Given the description of an element on the screen output the (x, y) to click on. 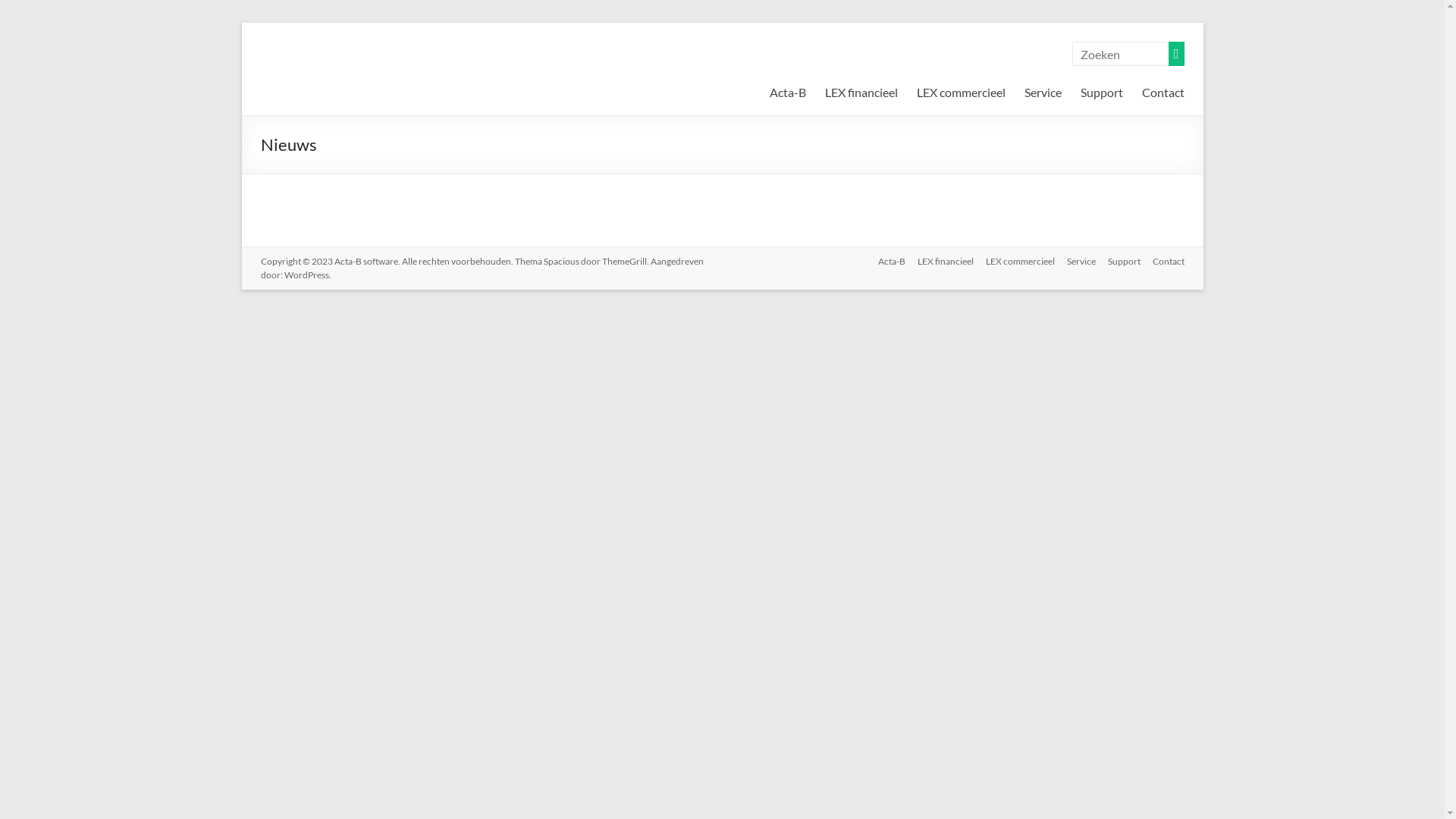
Contact Element type: text (1162, 262)
Service Element type: text (1041, 92)
Acta-B software Element type: text (312, 82)
LEX commercieel Element type: text (1013, 262)
Acta-B Element type: text (786, 92)
Support Element type: text (1117, 262)
LEX financieel Element type: text (861, 92)
LEX commercieel Element type: text (960, 92)
LEX financieel Element type: text (939, 262)
WordPress Element type: text (305, 274)
Contact Element type: text (1163, 92)
Acta-B software Element type: text (365, 260)
Spacious Element type: text (560, 260)
Service Element type: text (1074, 262)
Ga naar de inhoud Element type: text (241, 21)
Support Element type: text (1100, 92)
Acta-B Element type: text (885, 262)
